Given the description of an element on the screen output the (x, y) to click on. 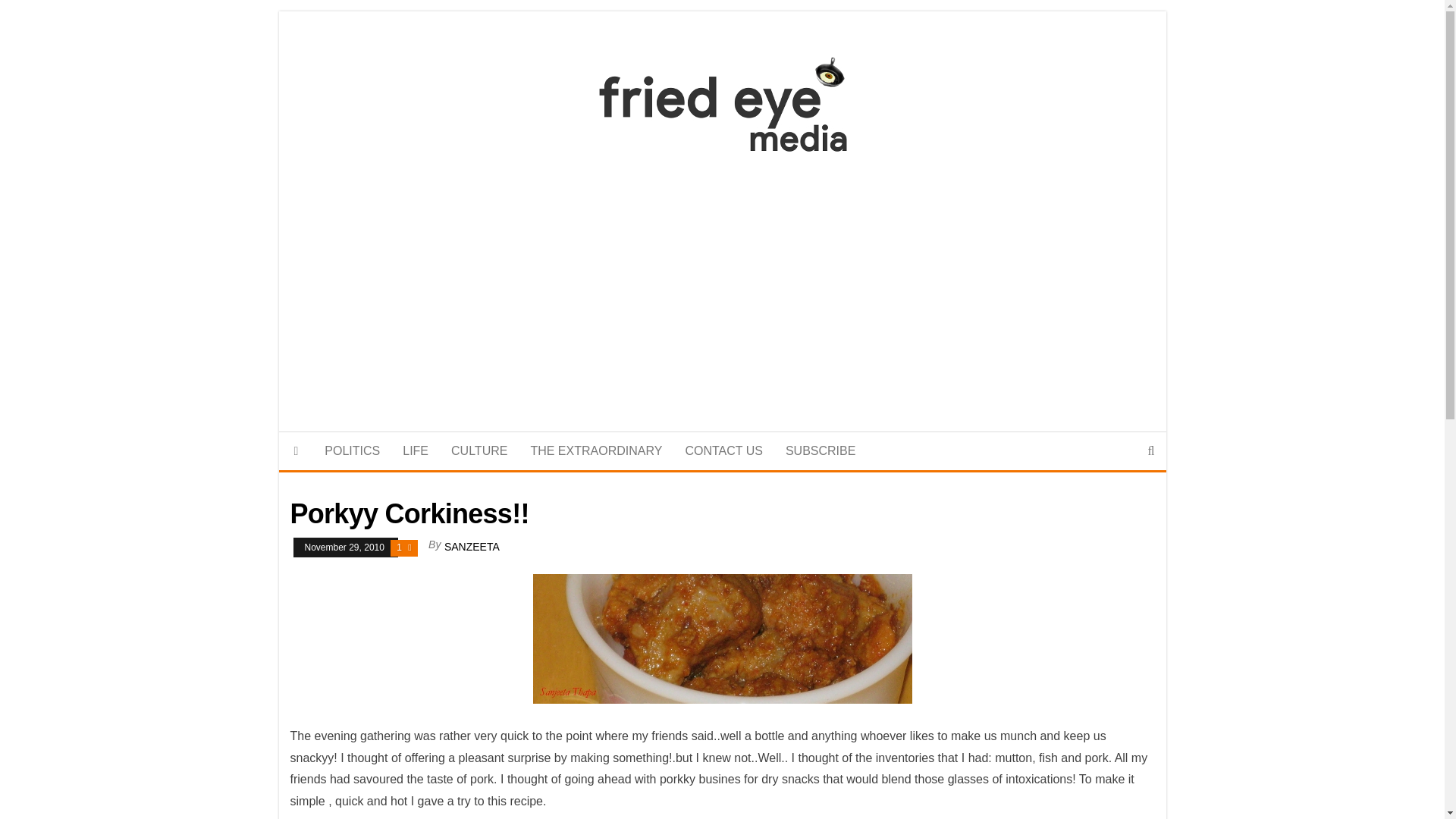
LIFE (415, 451)
SUBSCRIBE (820, 451)
SANZEETA (471, 546)
CULTURE (478, 451)
THE EXTRAORDINARY (595, 451)
POLITICS (352, 451)
SUBSCRIBE (820, 451)
THE EXTRAORDINARY (595, 451)
